Given the description of an element on the screen output the (x, y) to click on. 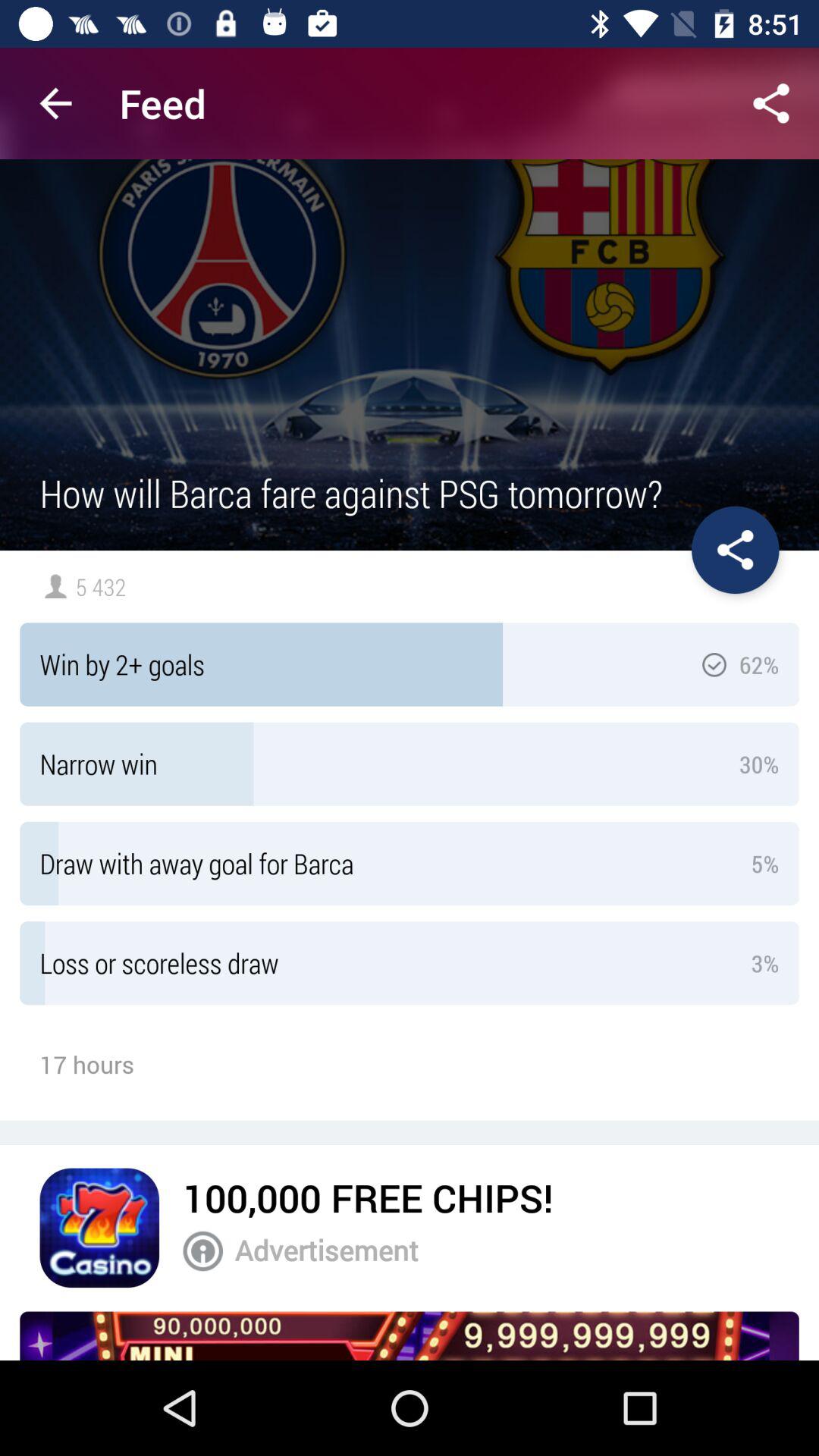
share opinion button (771, 103)
